Given the description of an element on the screen output the (x, y) to click on. 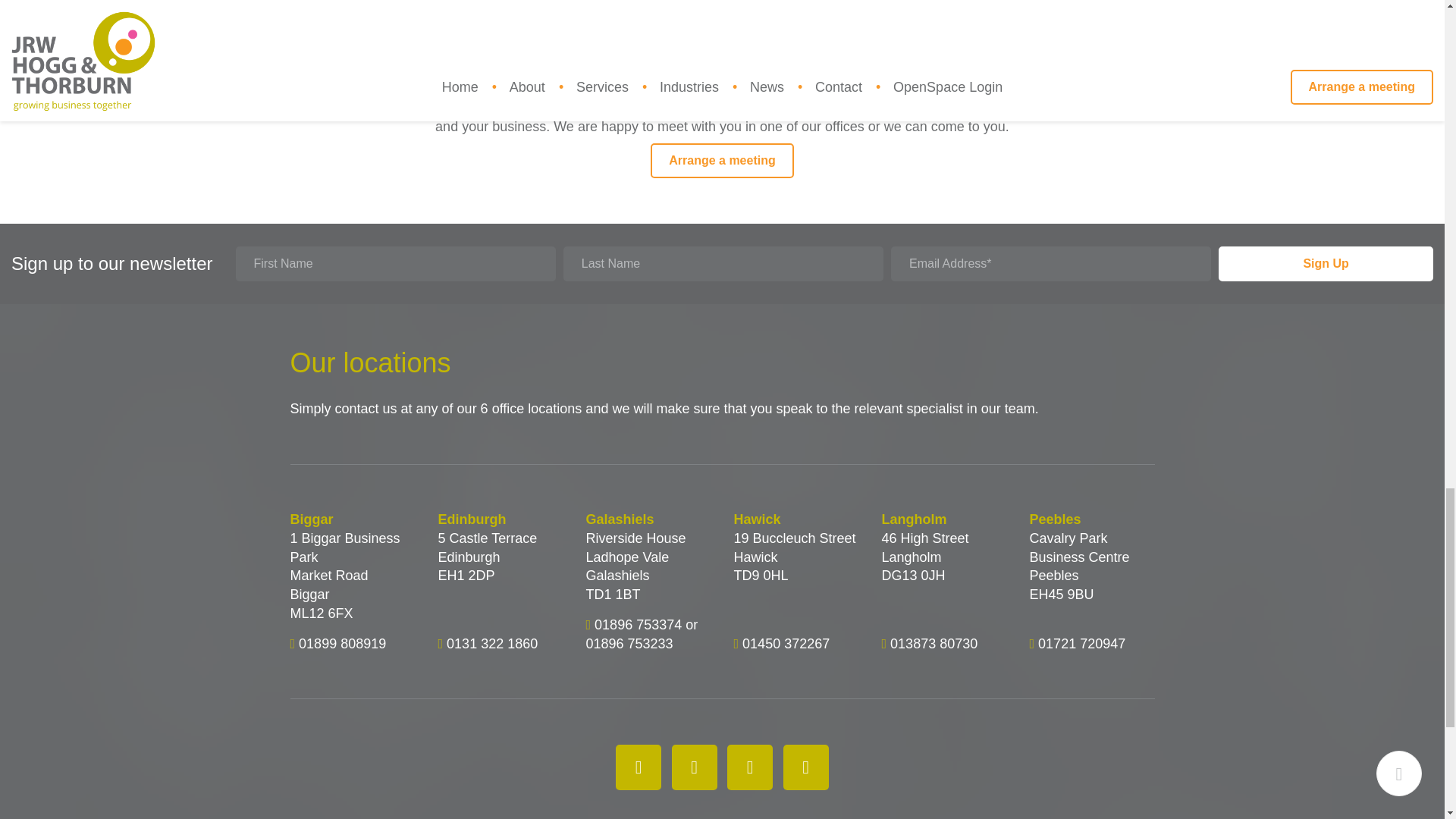
Sign Up (1325, 263)
Hawick (796, 519)
Arrange a meeting (721, 160)
Galashiels (647, 519)
Arrange a meeting (721, 160)
01896 753374 or 01896 753233 (641, 634)
0131 322 1860 (491, 642)
01450 372267 (785, 642)
Biggar (351, 519)
Edinburgh (500, 519)
01899 808919 (341, 642)
